Given the description of an element on the screen output the (x, y) to click on. 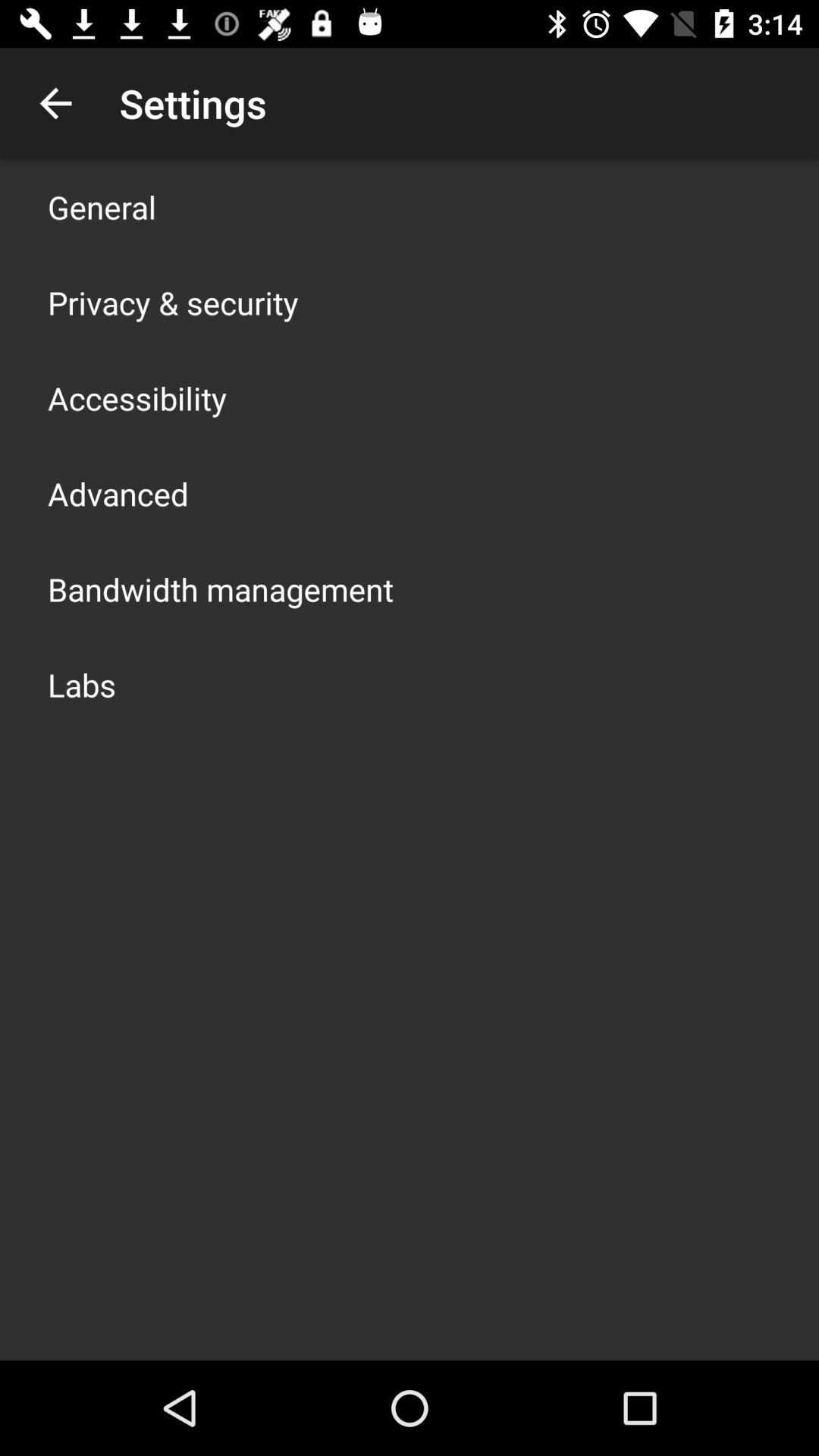
turn off item above general (55, 103)
